Given the description of an element on the screen output the (x, y) to click on. 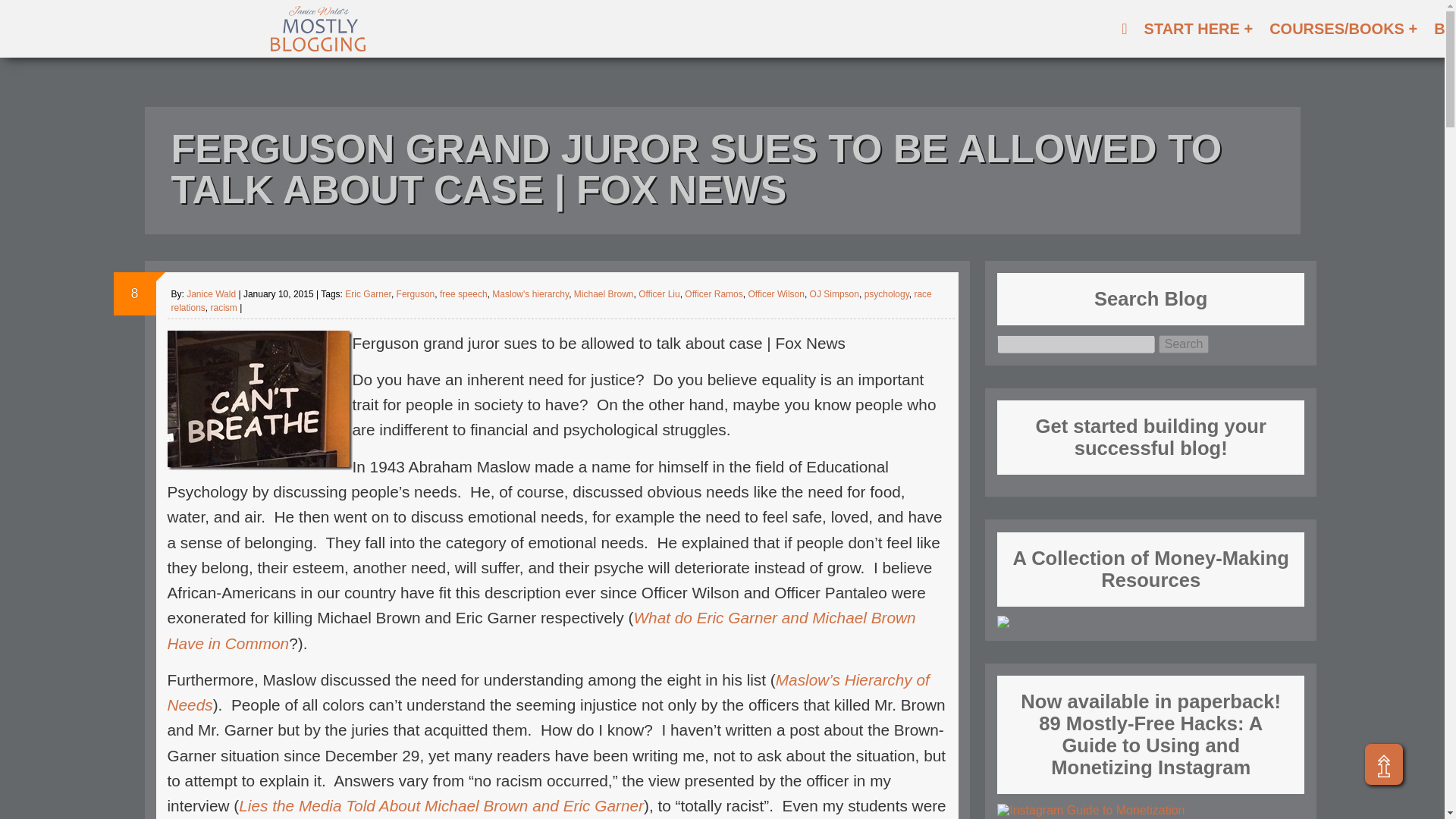
Search (1183, 343)
BLOG (1442, 28)
I Can't Breathe Shirt (259, 400)
Posts by Janice Wald (210, 294)
